Given the description of an element on the screen output the (x, y) to click on. 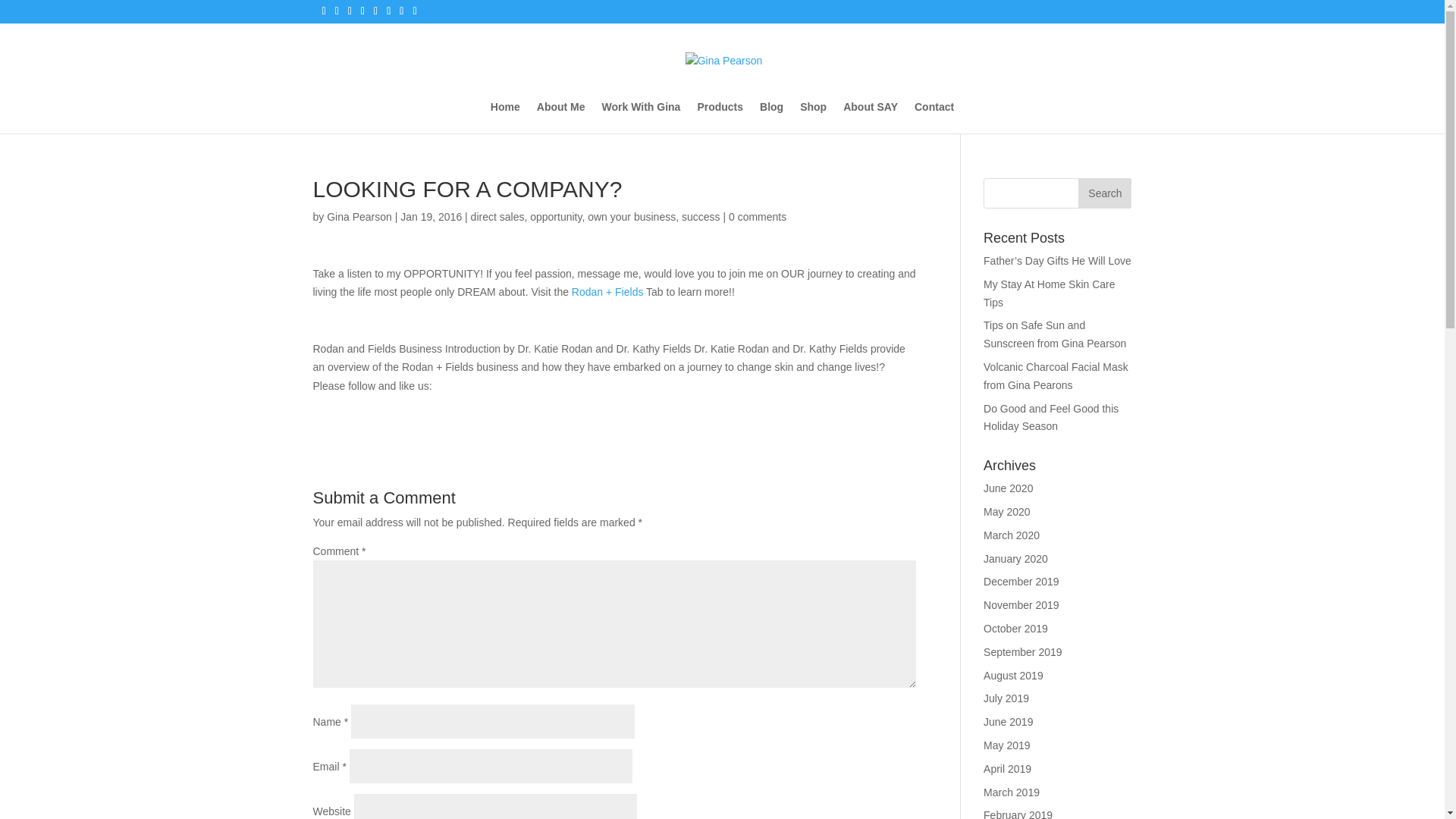
direct sales (497, 216)
Tweet (373, 407)
Facebook Share (351, 412)
Pin Share (395, 412)
Products (719, 117)
0 comments (757, 216)
Work With Gina (641, 117)
Home (504, 117)
own your business (631, 216)
Posts by Gina Pearson (358, 216)
About SAY (870, 117)
Gina Pearson (358, 216)
About Me (561, 117)
opportunity (554, 216)
Search (1104, 193)
